Given the description of an element on the screen output the (x, y) to click on. 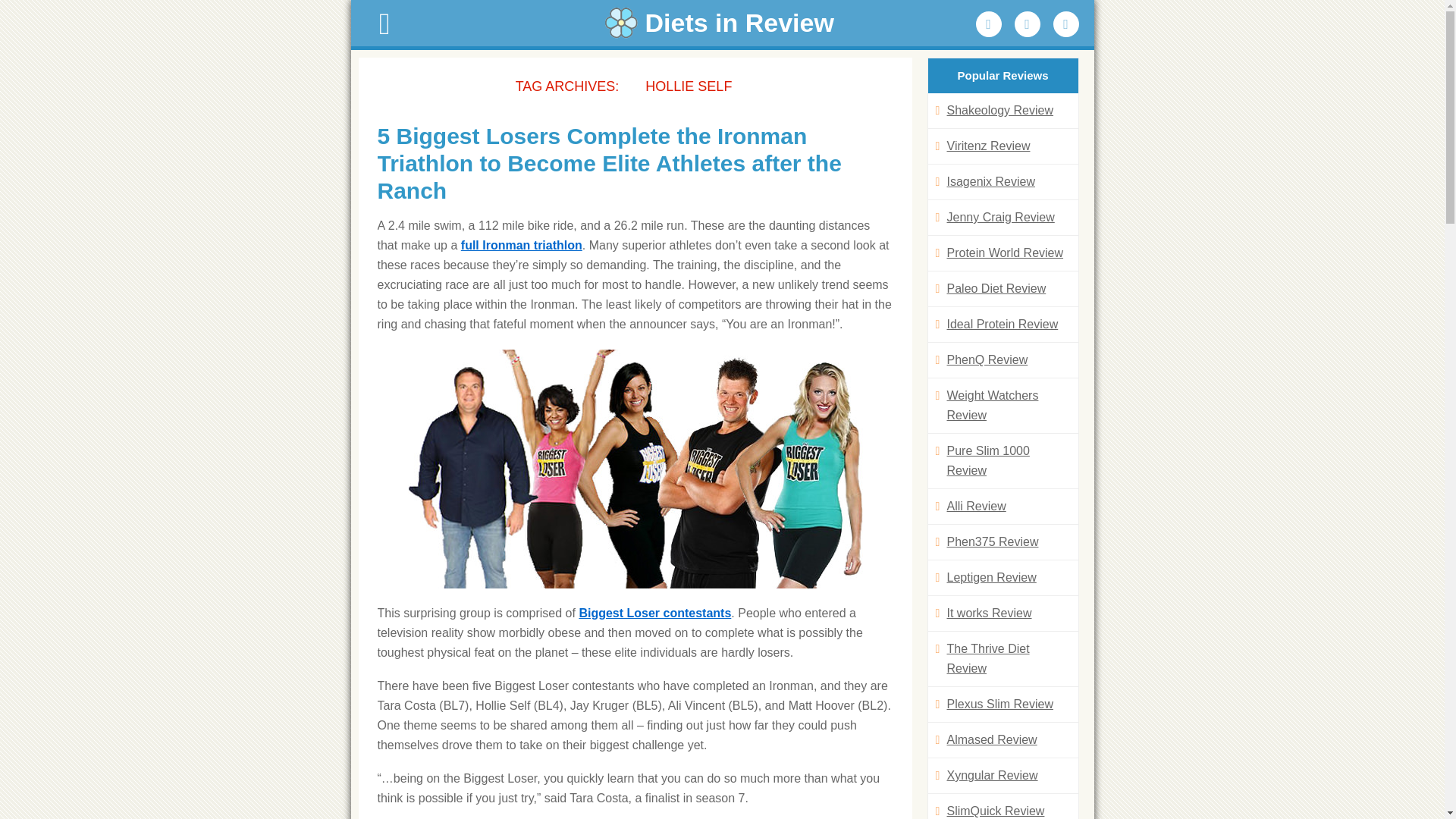
biggest loser ironman (635, 468)
running ironman (521, 245)
biggest loser diet (654, 612)
Diets in Review (722, 22)
Add to Twitter (1027, 23)
Biggest Loser contestants (654, 612)
Share with Facebook (988, 23)
Diets in Review Blog (722, 22)
full Ironman triathlon (521, 245)
